Given the description of an element on the screen output the (x, y) to click on. 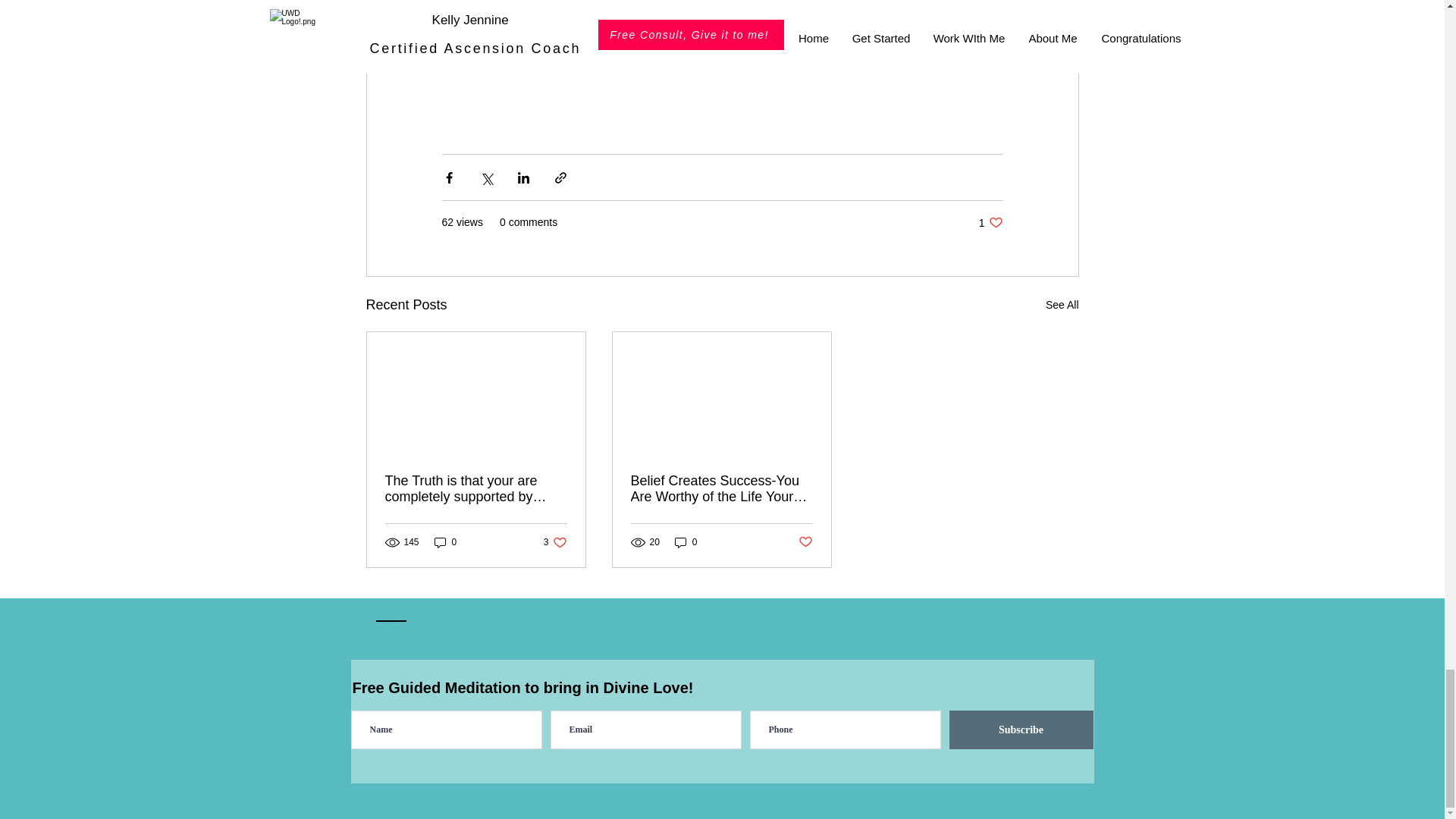
Post not marked as liked (804, 541)
See All (1061, 305)
0 (445, 542)
0 (990, 222)
Subscribe (685, 542)
